Given the description of an element on the screen output the (x, y) to click on. 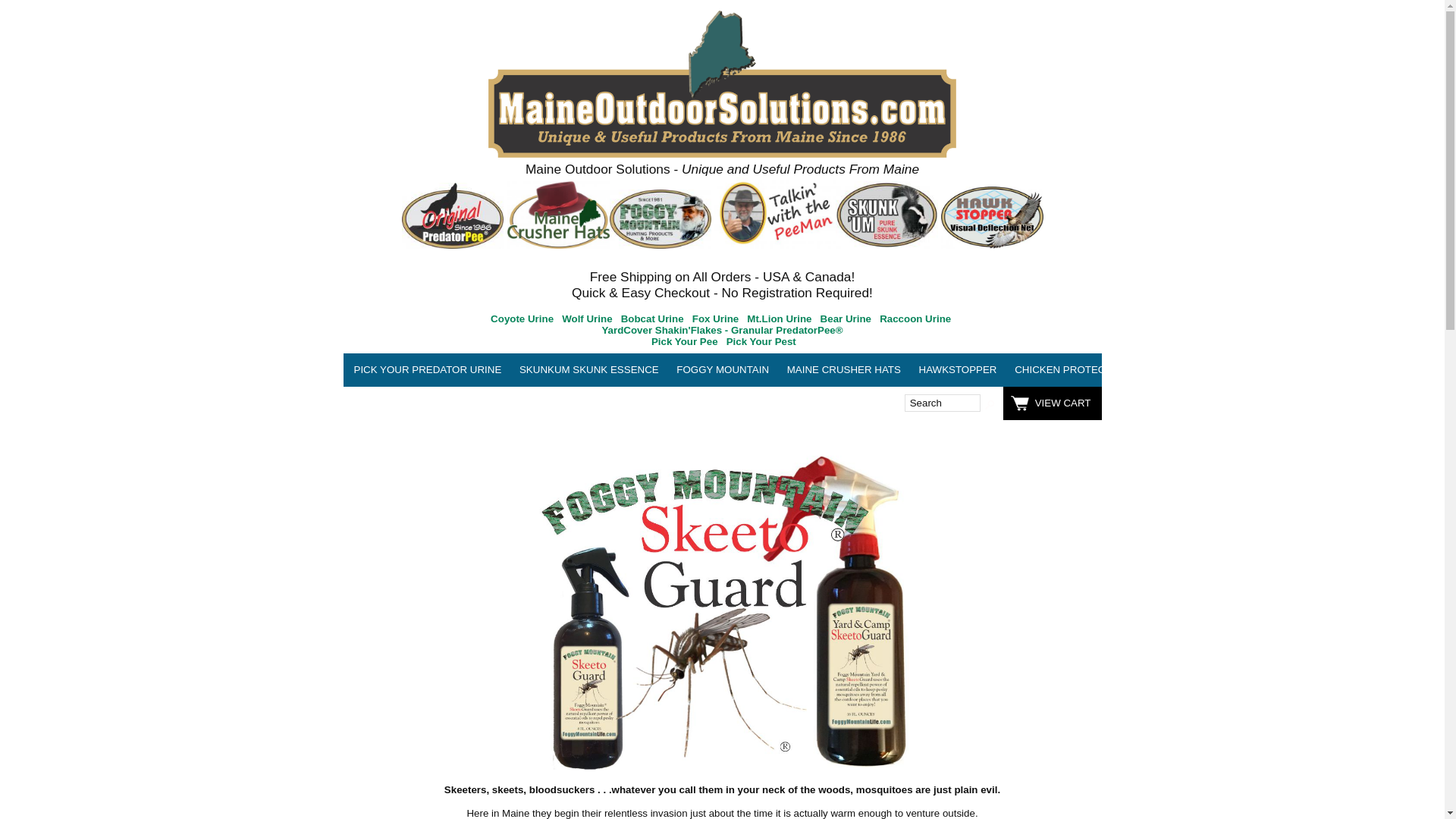
Mt.Lion Urine (778, 318)
Sign In (372, 403)
VIEW CART (1052, 403)
SkunkUm Skunk Essence (589, 369)
Bobcat Urine (652, 318)
COYOTE DETERRENT (1201, 369)
Wolf Urine (586, 318)
HAWKSTOPPER (957, 369)
Chicken Protection (1072, 369)
View Cart (1052, 403)
Coyote Urine (521, 318)
Maine Crusher Hats (843, 369)
Bear Urine (845, 318)
Search (941, 402)
Go (987, 403)
